Given the description of an element on the screen output the (x, y) to click on. 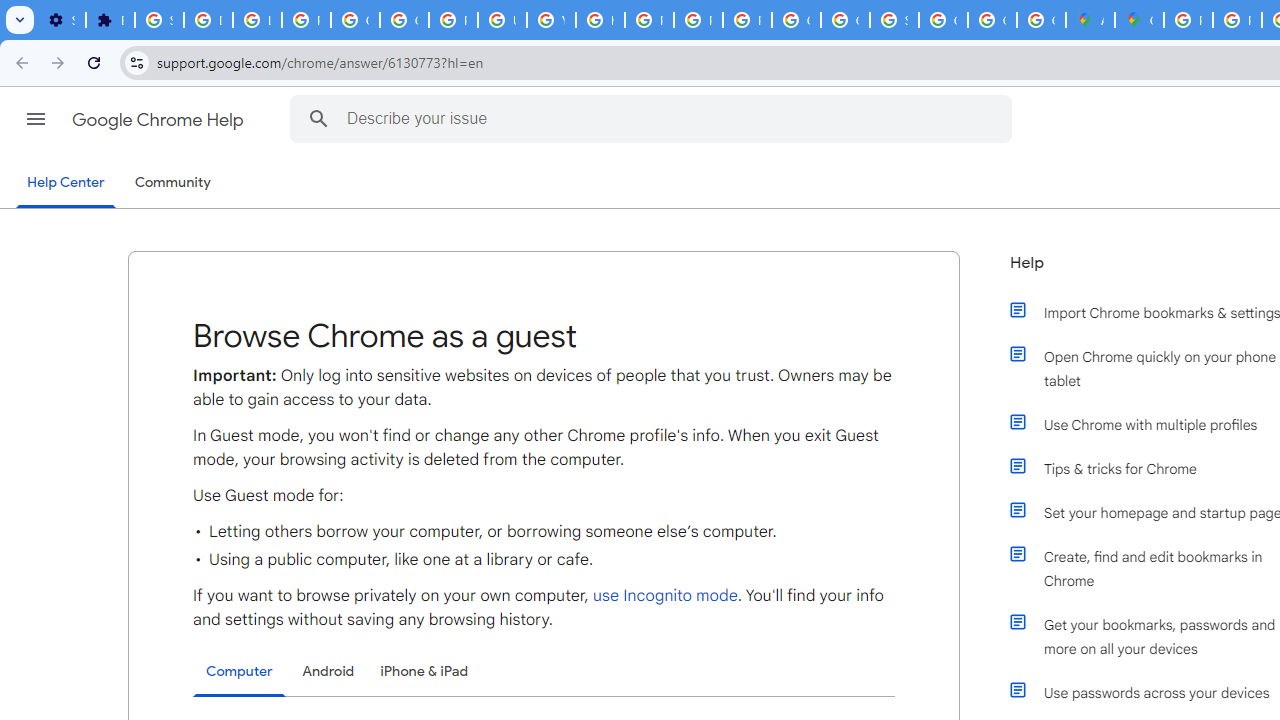
Computer (239, 672)
Android (328, 671)
YouTube (551, 20)
Policy Accountability and Transparency - Transparency Center (1188, 20)
Create your Google Account (1041, 20)
Sign in - Google Accounts (894, 20)
Describe your issue (653, 118)
Privacy Help Center - Policies Help (1237, 20)
